Given the description of an element on the screen output the (x, y) to click on. 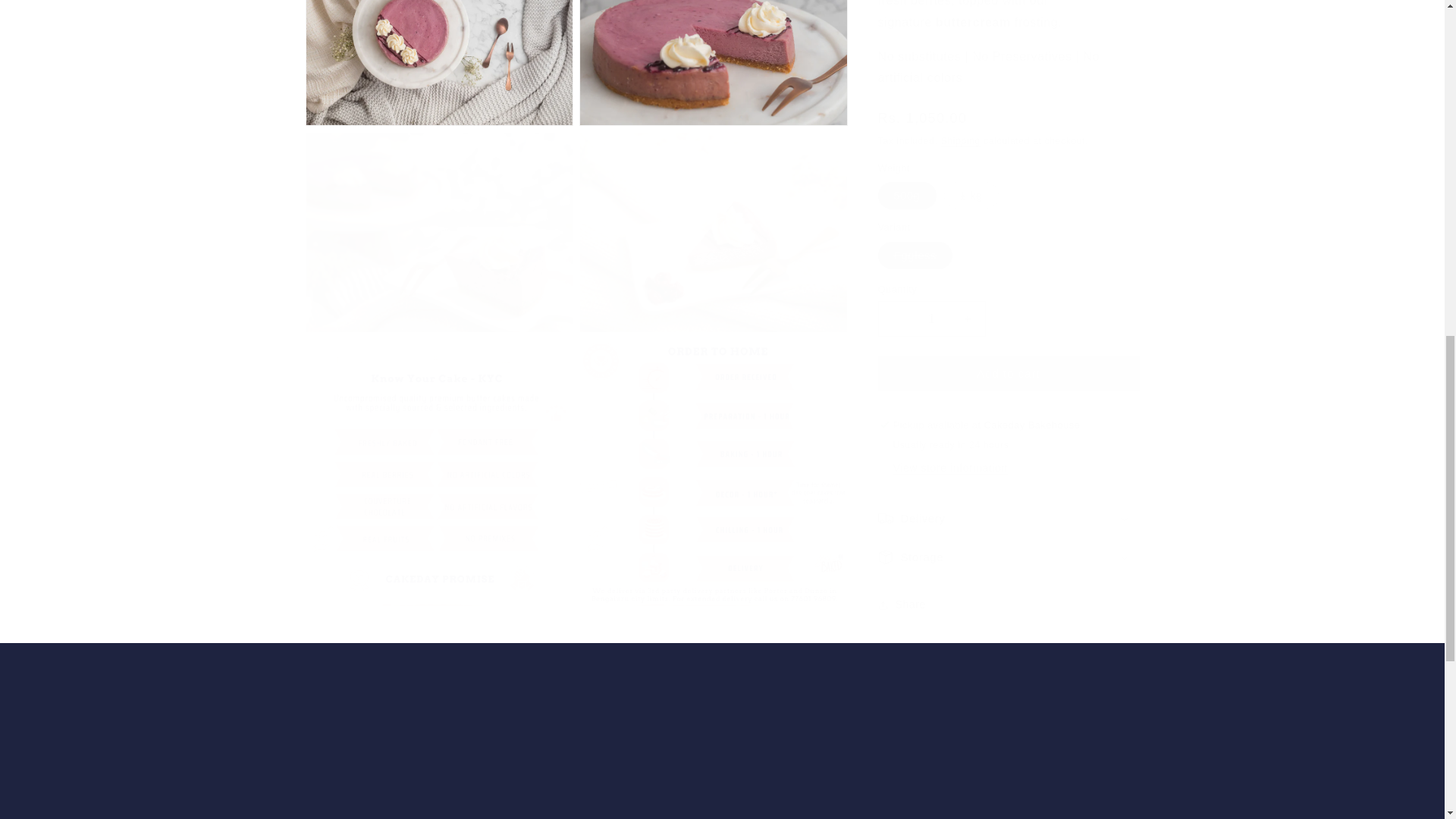
Open media 7 in modal (713, 457)
Open media 4 in modal (438, 217)
Open media 2 in modal (438, 55)
Open media 6 in modal (438, 457)
Open media 5 in modal (713, 217)
Open media 3 in modal (713, 55)
